Given the description of an element on the screen output the (x, y) to click on. 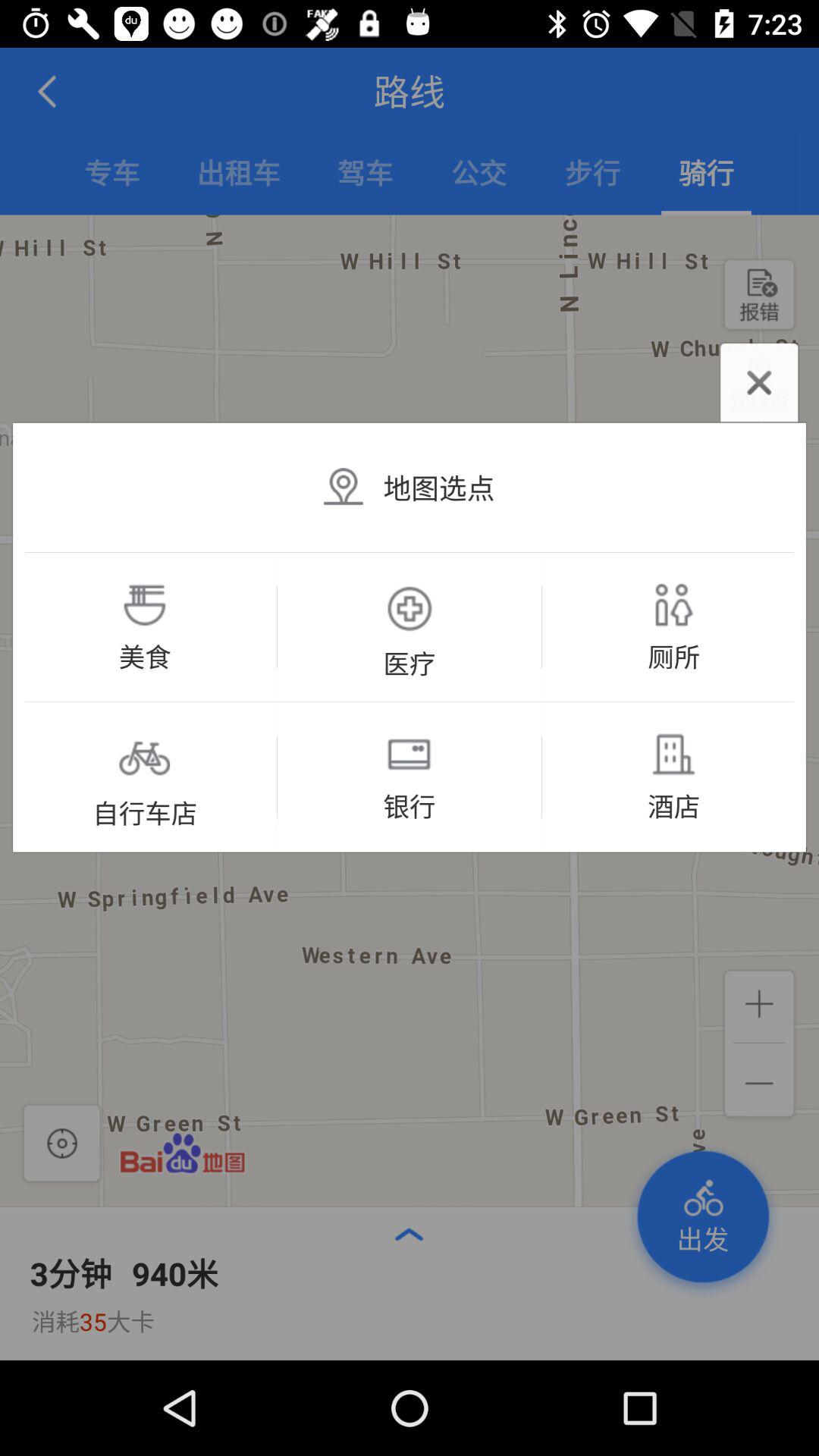
select the first tab below the button which is on the top left corner of the web page (111, 175)
